Given the description of an element on the screen output the (x, y) to click on. 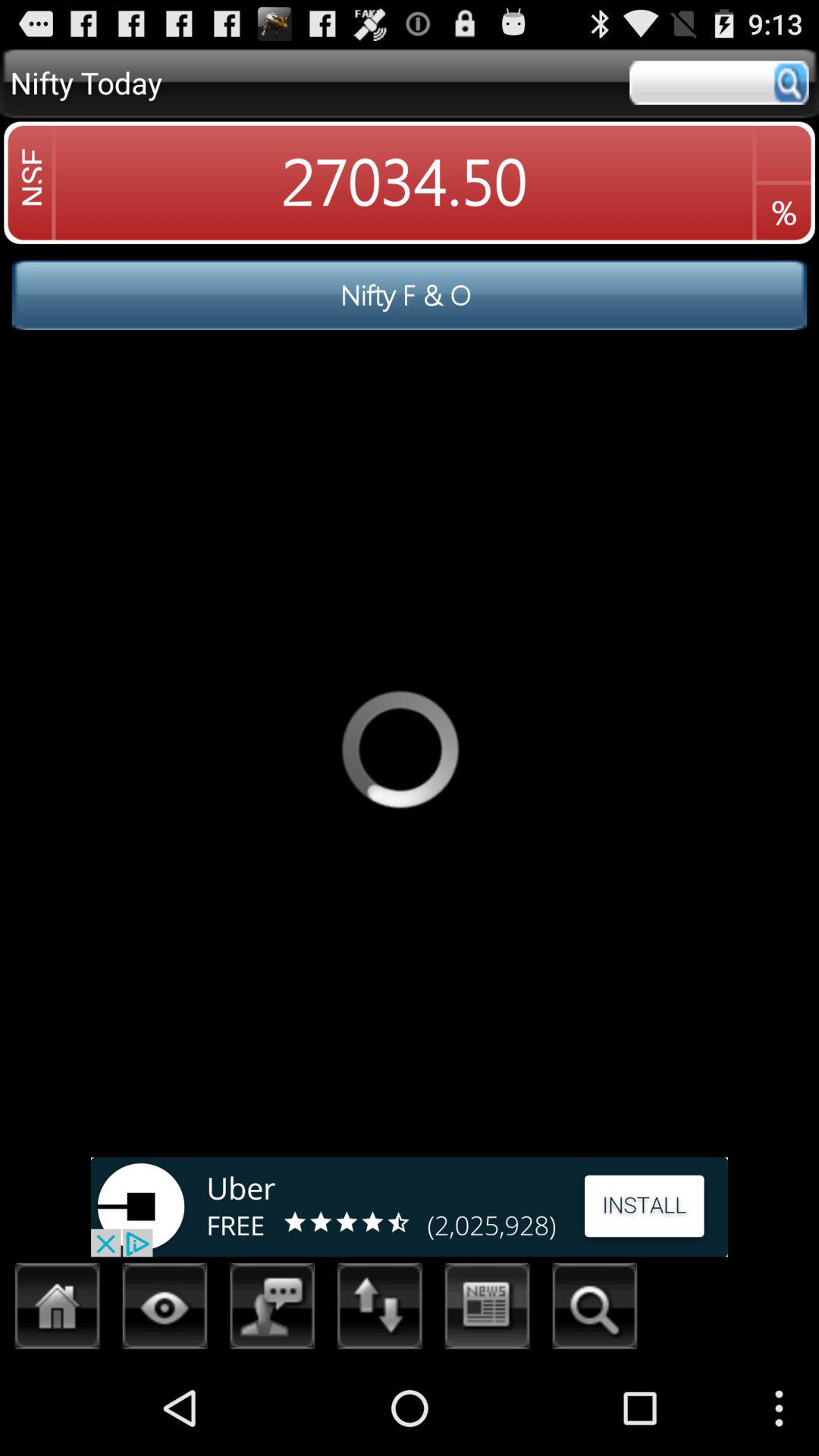
icon page (164, 1310)
